Given the description of an element on the screen output the (x, y) to click on. 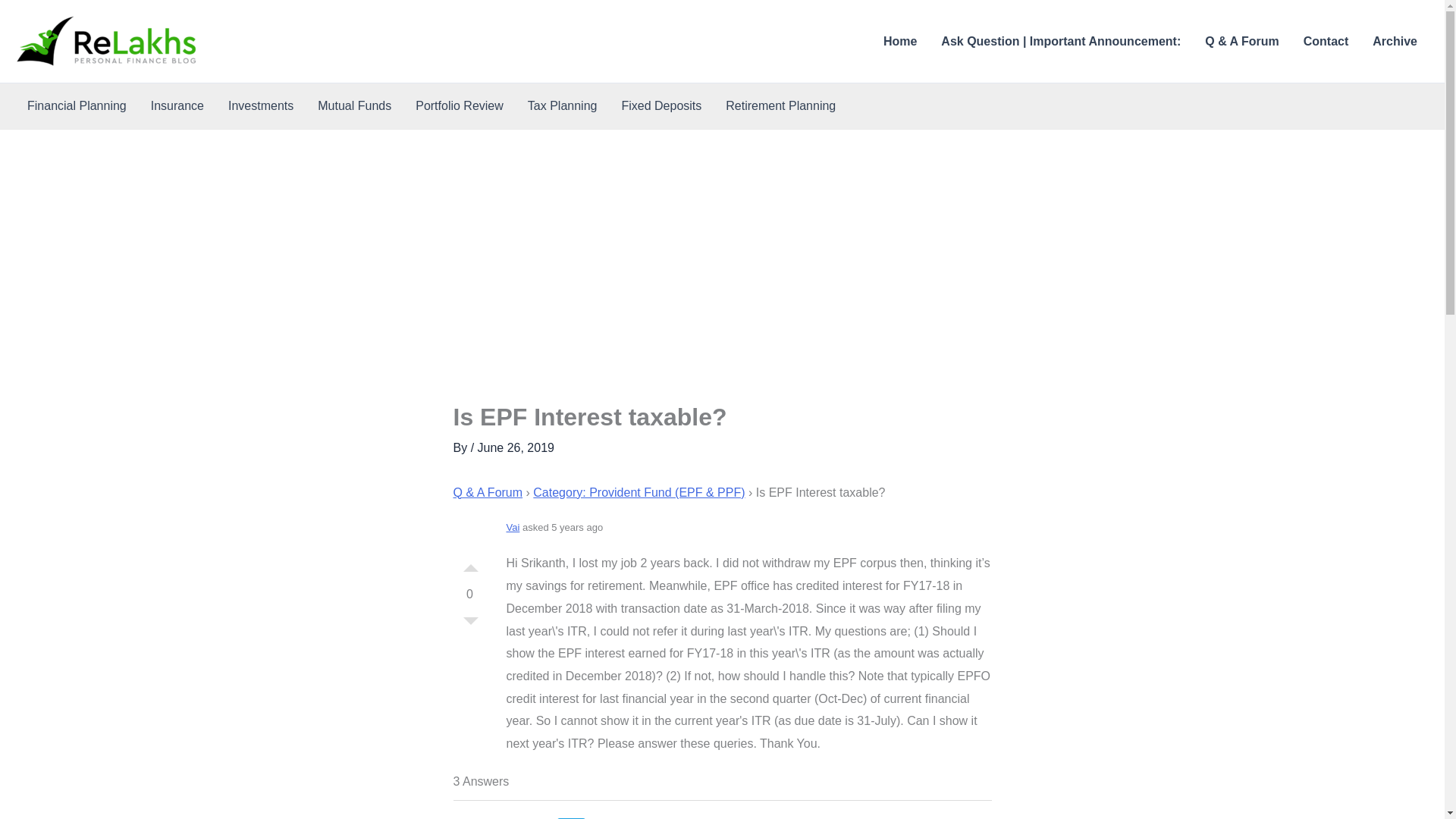
Insurance (176, 105)
Vote Down (470, 624)
Home (899, 40)
Fixed Deposits (660, 105)
Portfolio Review (459, 105)
Vote Up (470, 563)
Advertisement (721, 290)
Tax Planning (562, 105)
Vai (512, 527)
Investments (260, 105)
